Given the description of an element on the screen output the (x, y) to click on. 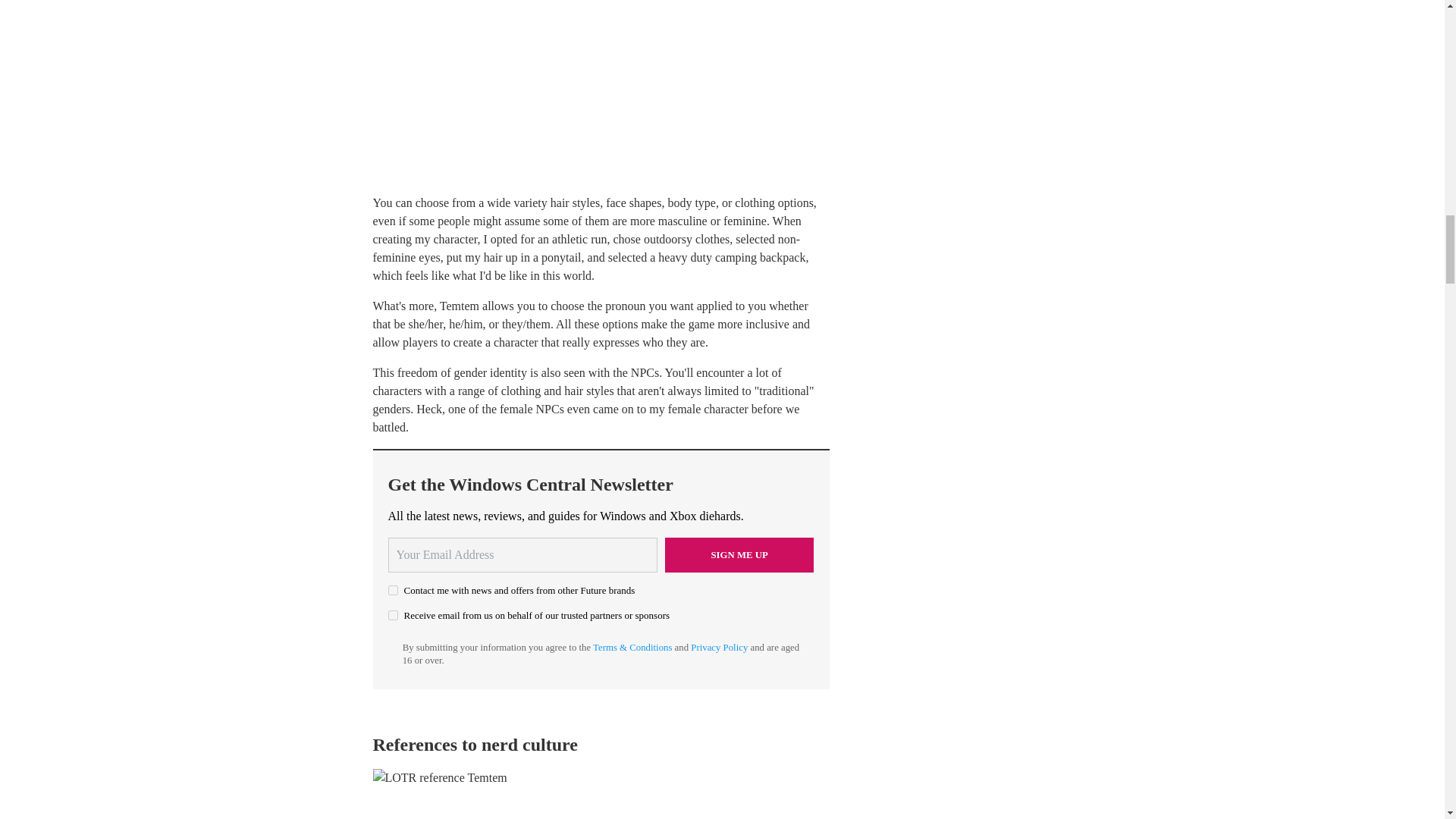
Privacy Policy (719, 647)
Sign me up (739, 554)
on (392, 614)
on (392, 590)
Sign me up (739, 554)
